Given the description of an element on the screen output the (x, y) to click on. 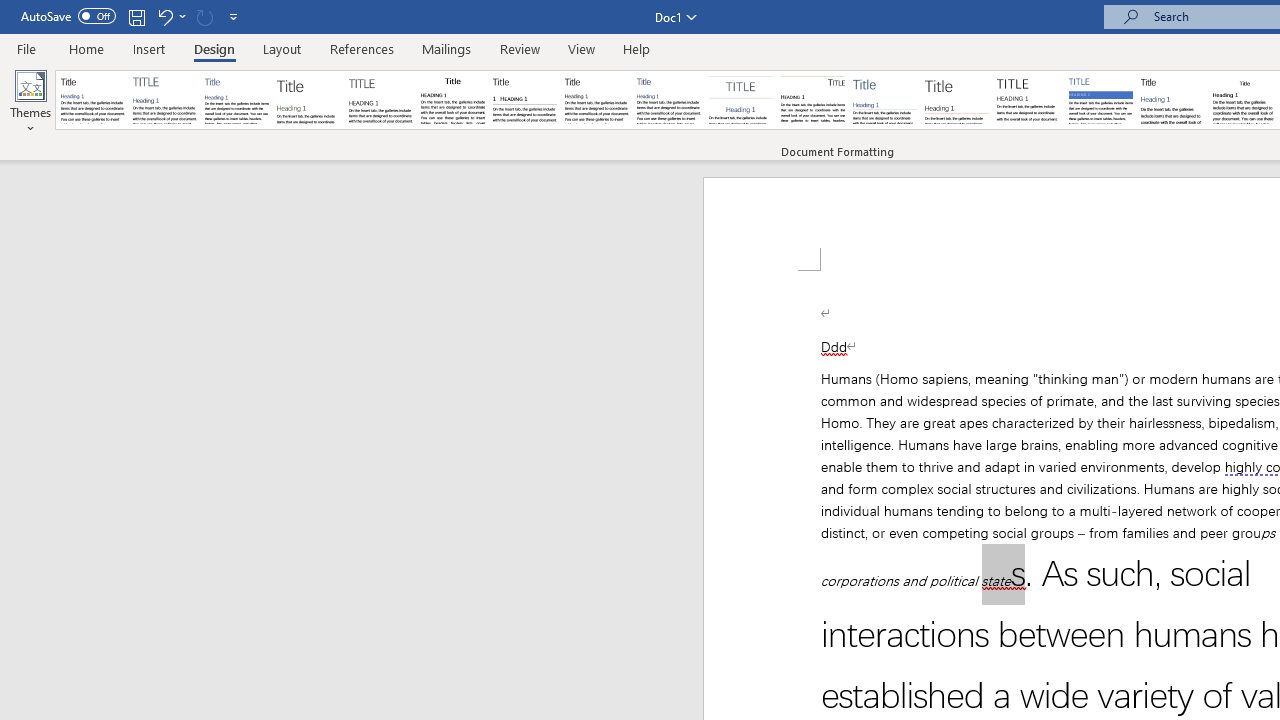
Black & White (Numbered) (524, 100)
Minimalist (1028, 100)
Document (93, 100)
Black & White (Capitalized) (381, 100)
Themes (30, 102)
Lines (Simple) (884, 100)
Basic (Elegant) (164, 100)
Undo Apply Quick Style Set (170, 15)
